Given the description of an element on the screen output the (x, y) to click on. 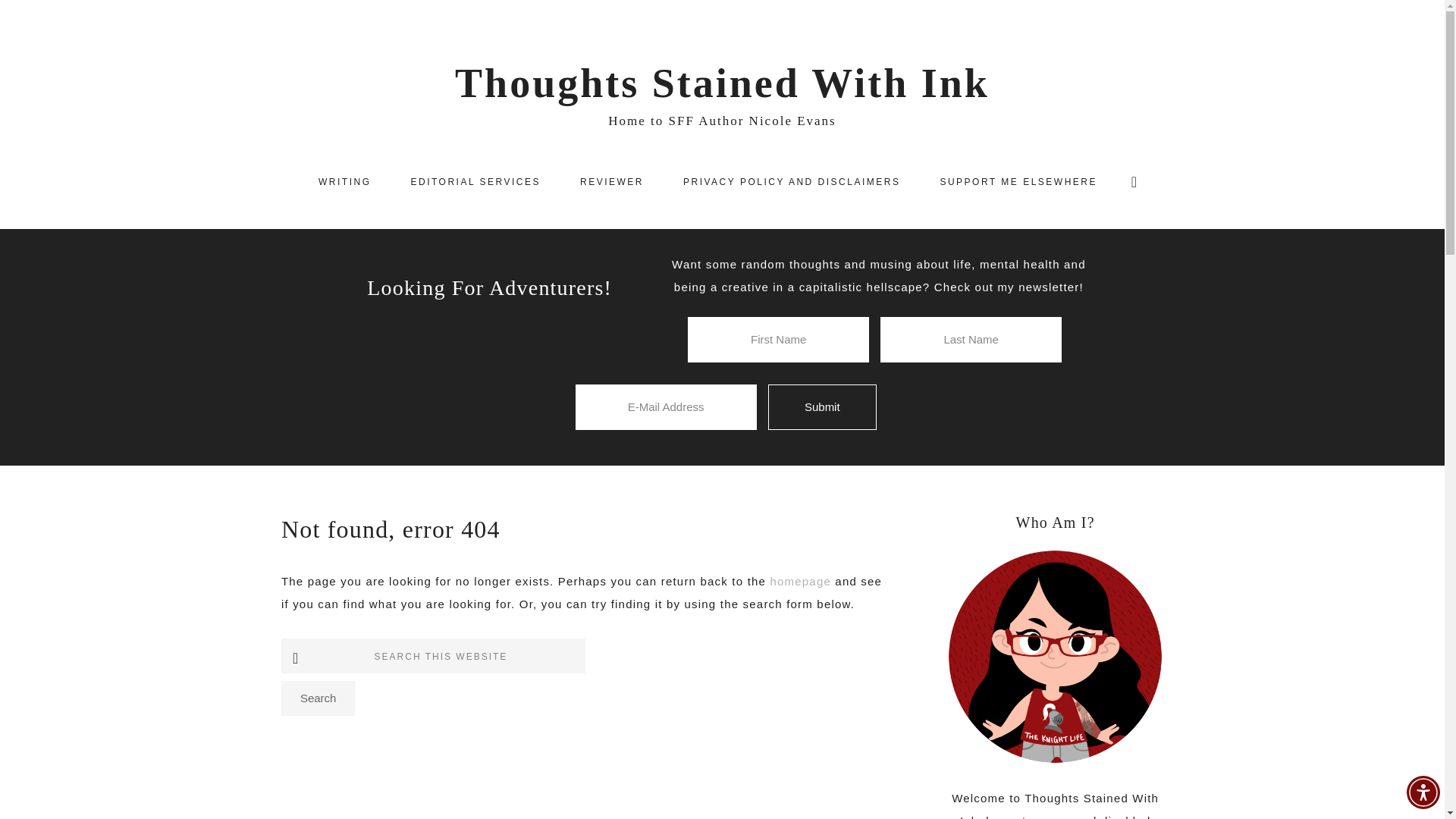
SUPPORT ME ELSEWHERE (1018, 182)
Search (318, 697)
EDITORIAL SERVICES (475, 182)
REVIEWER (611, 182)
Thoughts Stained With Ink (722, 83)
Search (318, 697)
homepage (800, 581)
Search (318, 697)
PRIVACY POLICY AND DISCLAIMERS (791, 182)
Submit (822, 407)
Submit (822, 407)
WRITING (344, 182)
